Given the description of an element on the screen output the (x, y) to click on. 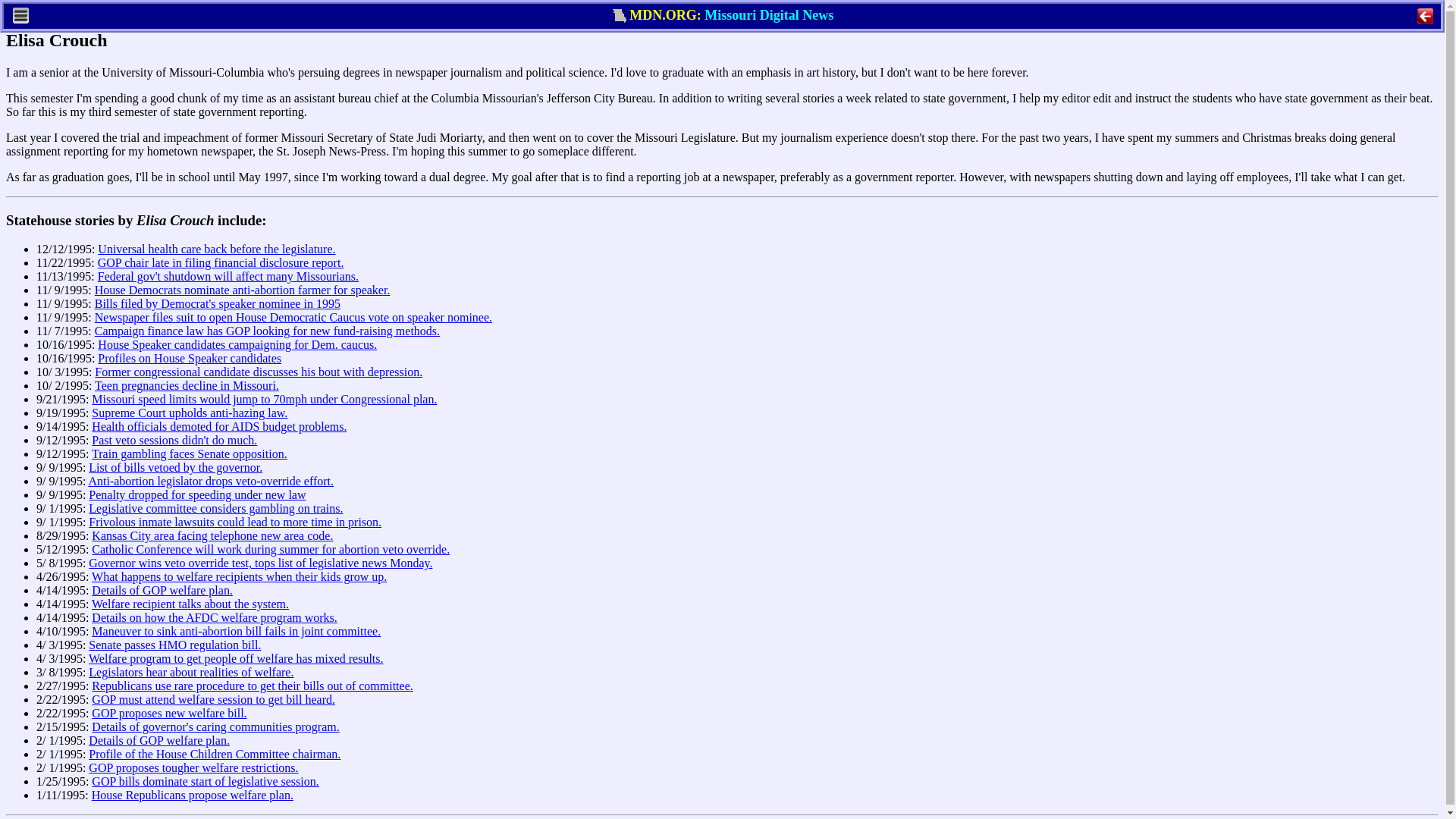
Profiles on House Speaker candidates (189, 358)
Health officials demoted for AIDS budget problems. (218, 426)
Penalty dropped for speeding under new law (196, 494)
Universal health care back before the legislature. (215, 248)
Frivolous inmate lawsuits could lead to more time in prison. (234, 521)
Details of GOP welfare plan. (159, 739)
Details of GOP welfare plan. (161, 590)
Teen pregnancies decline in Missouri. (186, 385)
